Given the description of an element on the screen output the (x, y) to click on. 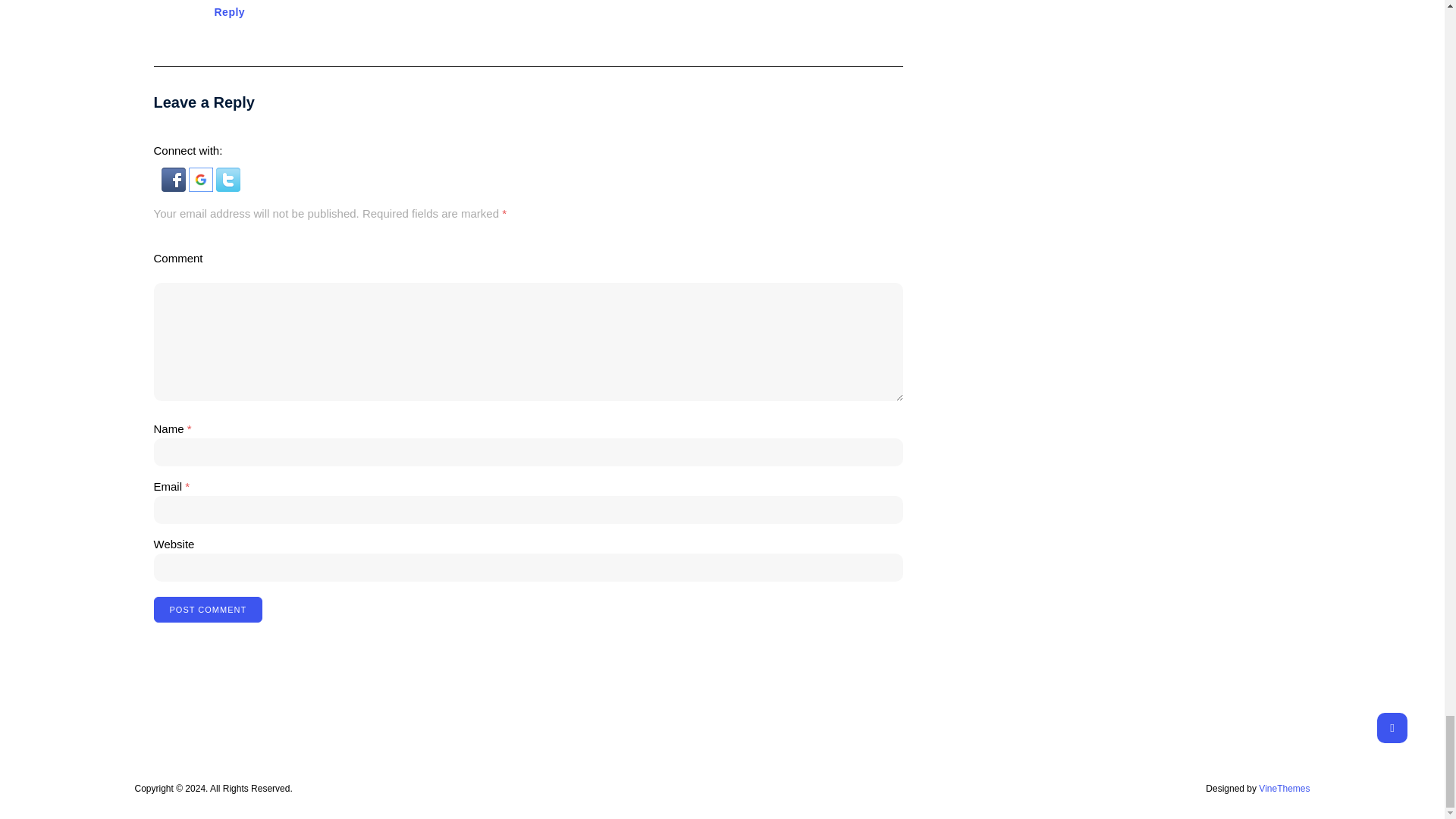
Connect with Twitter (227, 187)
Connect with Facebook (173, 187)
Connect with Google (202, 187)
Post Comment (207, 609)
